Given the description of an element on the screen output the (x, y) to click on. 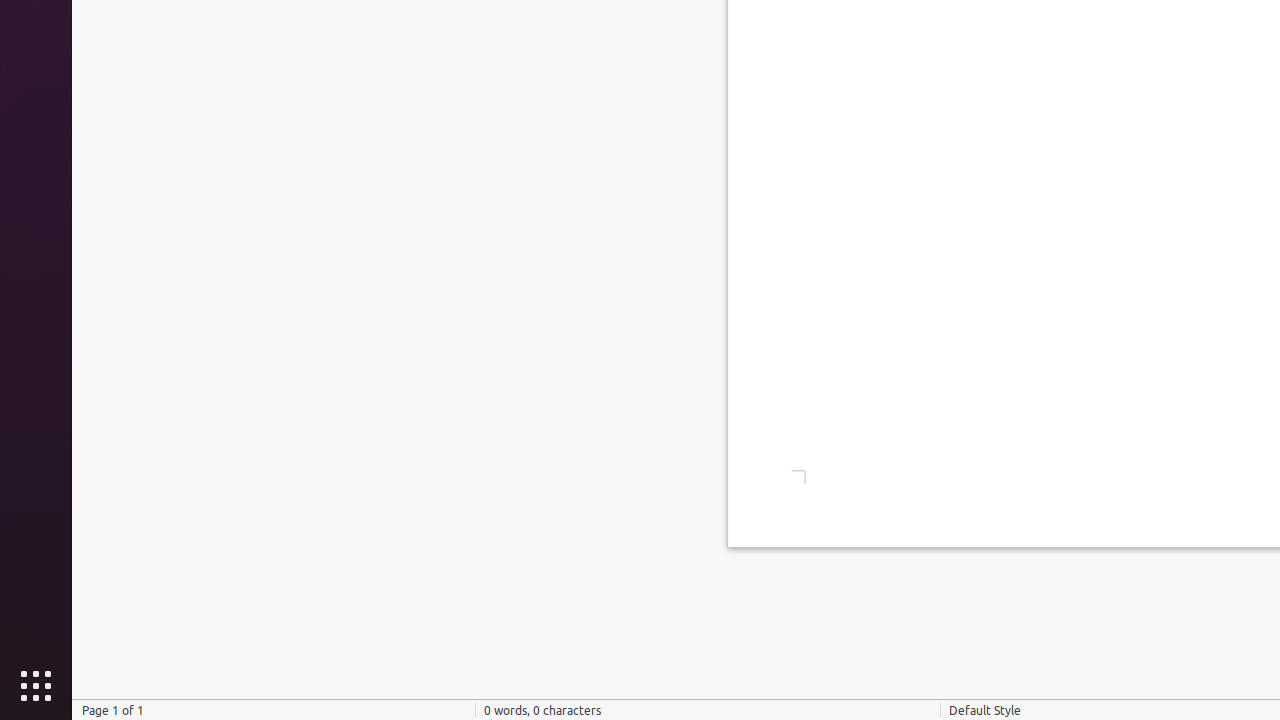
Show Applications Element type: toggle-button (36, 686)
